Given the description of an element on the screen output the (x, y) to click on. 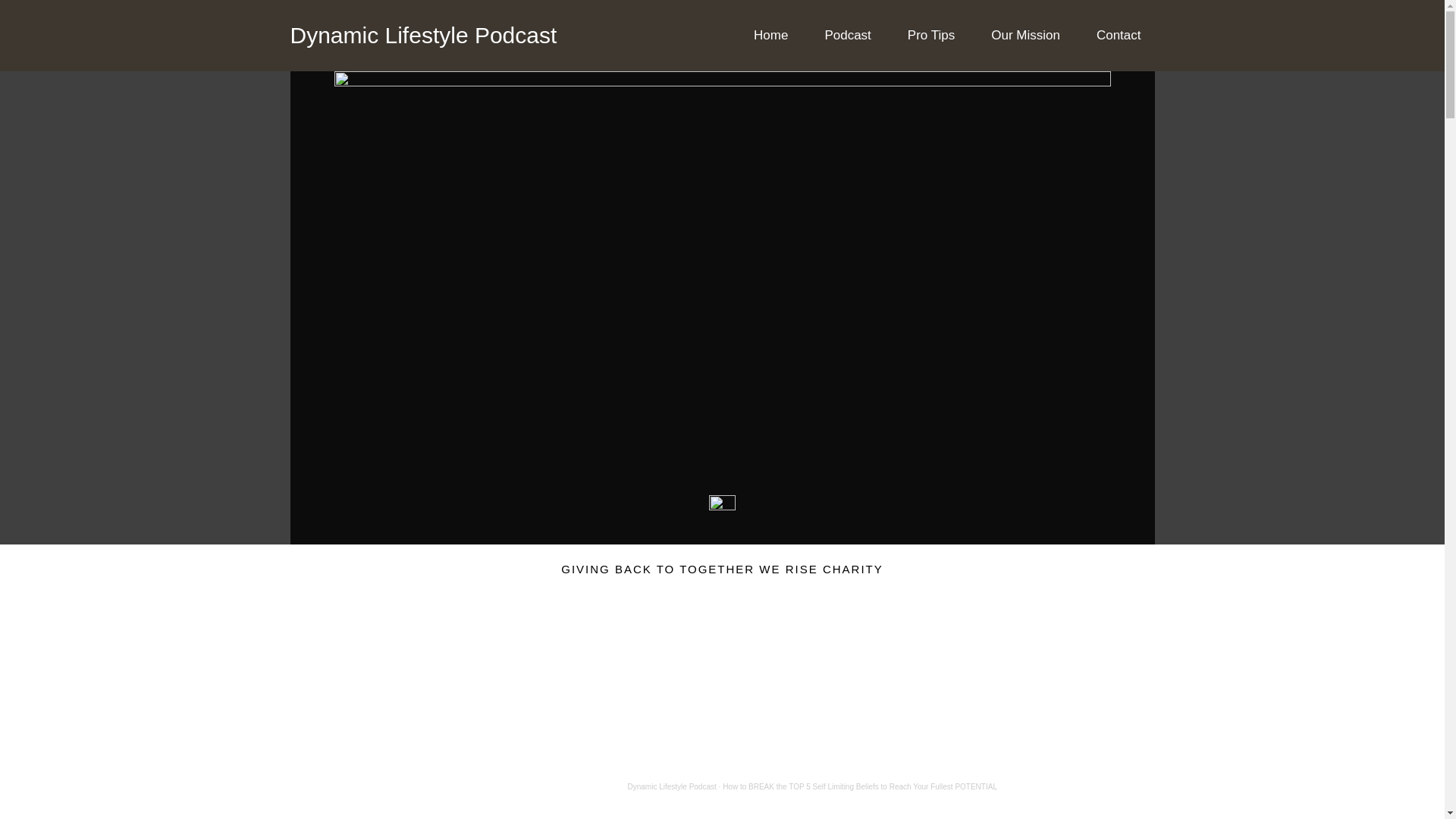
Contact (1118, 35)
Pro Tips (930, 35)
Our Mission (1025, 35)
Podcast (846, 35)
Dynamic Lifestyle Podcast (671, 786)
Dynamic Lifestyle Podcast (671, 786)
Dynamic Lifestyle Podcast (422, 34)
